Given the description of an element on the screen output the (x, y) to click on. 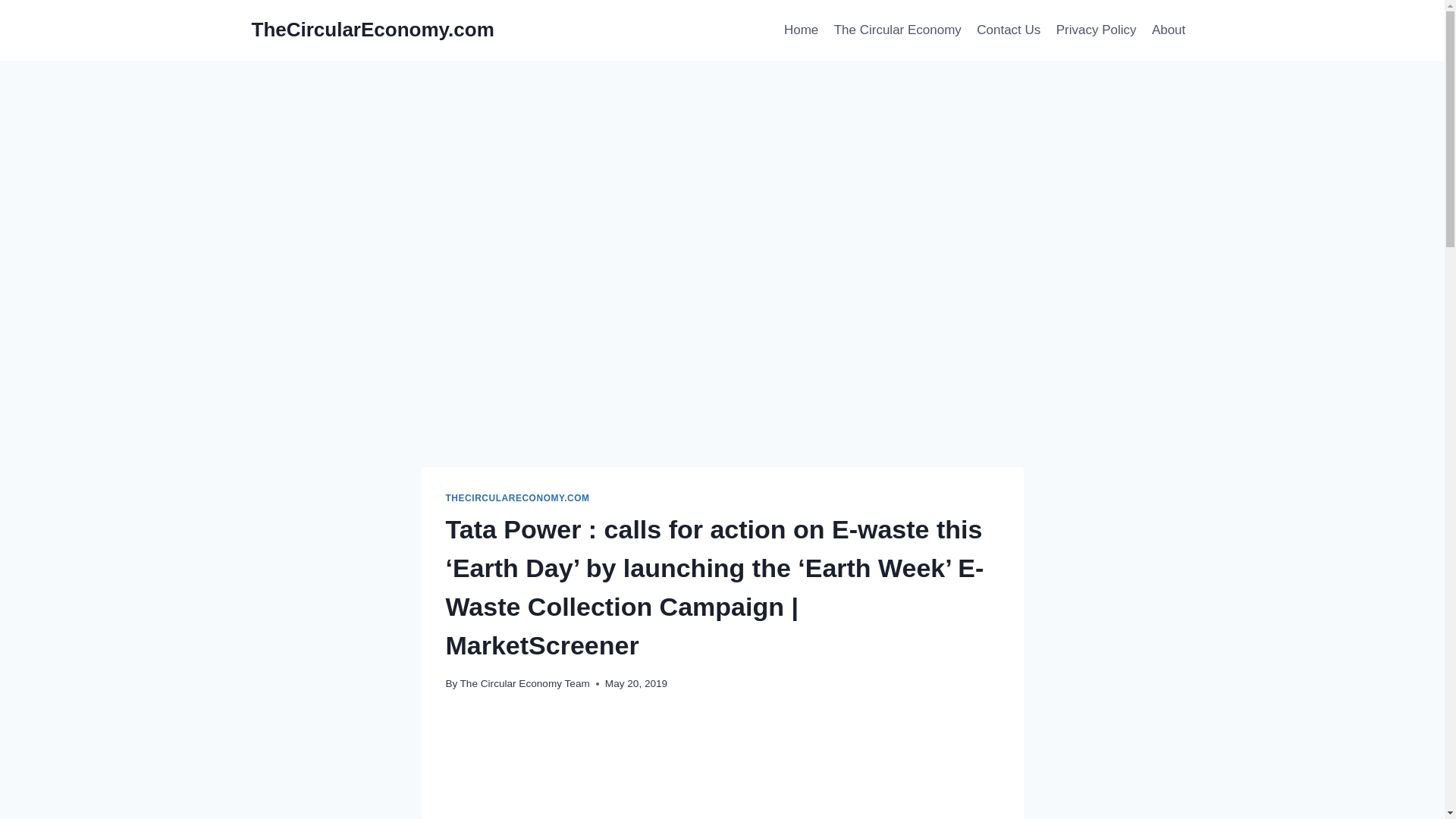
Privacy Policy (1095, 30)
Home (801, 30)
The Circular Economy Team (524, 683)
About (1168, 30)
Contact Us (1008, 30)
THECIRCULARECONOMY.COM (517, 498)
TheCircularEconomy.com (373, 29)
The Circular Economy (897, 30)
